Given the description of an element on the screen output the (x, y) to click on. 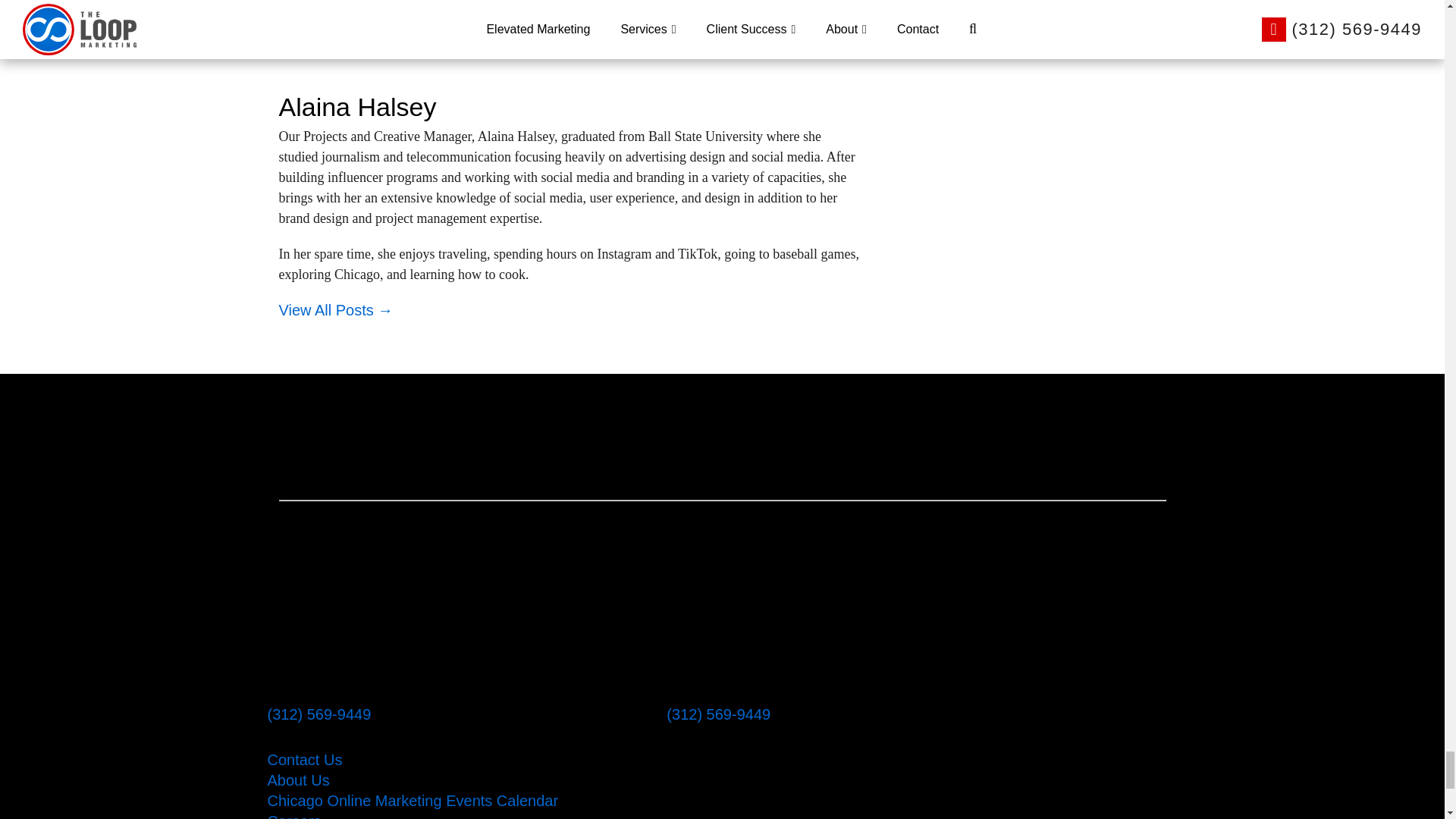
Subscribe (318, 5)
